Given the description of an element on the screen output the (x, y) to click on. 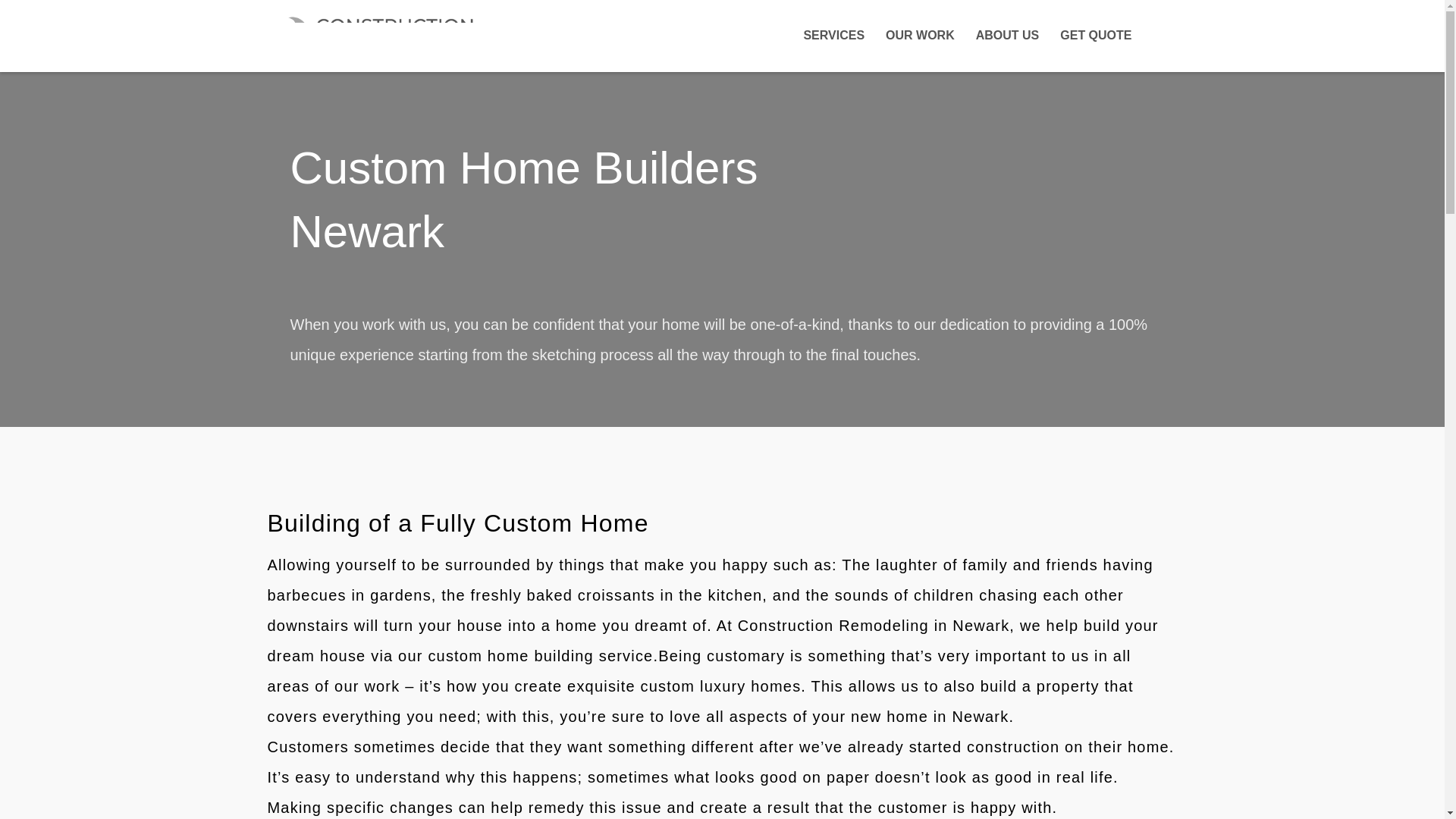
ABOUT US (1007, 35)
SERVICES (833, 35)
GET QUOTE (1095, 35)
OUR WORK (919, 35)
